Given the description of an element on the screen output the (x, y) to click on. 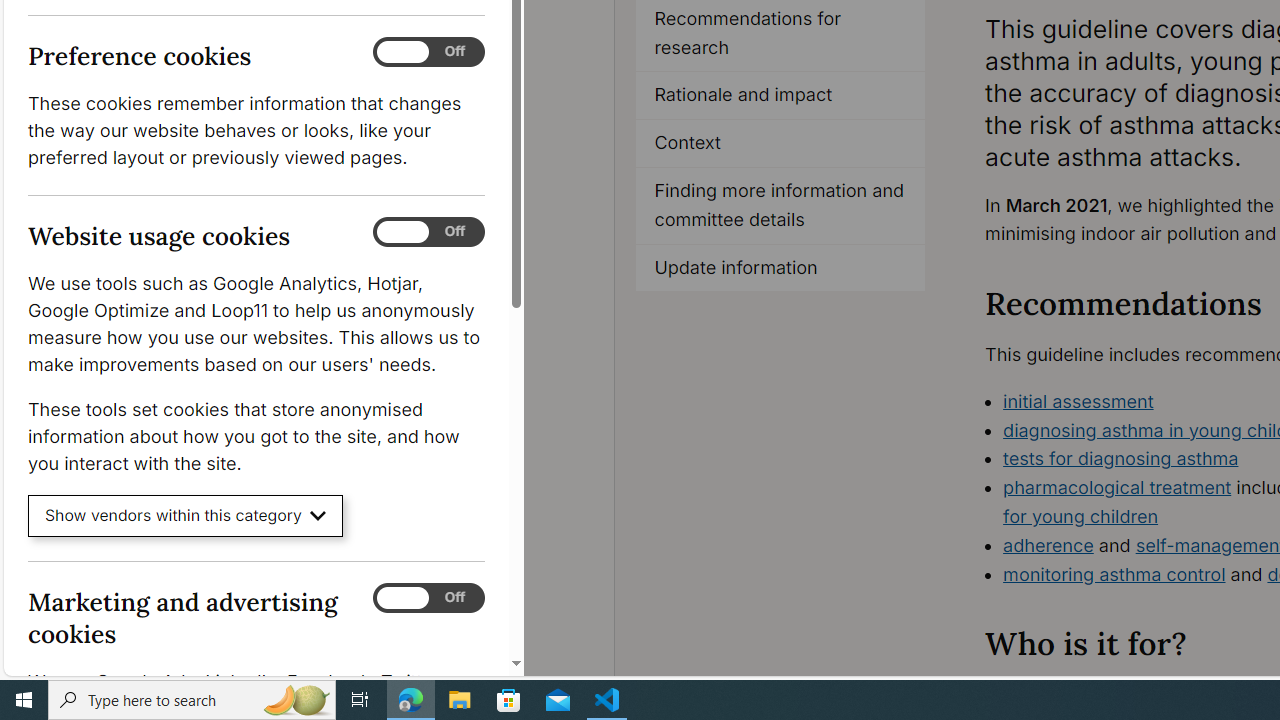
adherence (1048, 544)
for young children (1080, 515)
Marketing and advertising cookies (429, 597)
